Given the description of an element on the screen output the (x, y) to click on. 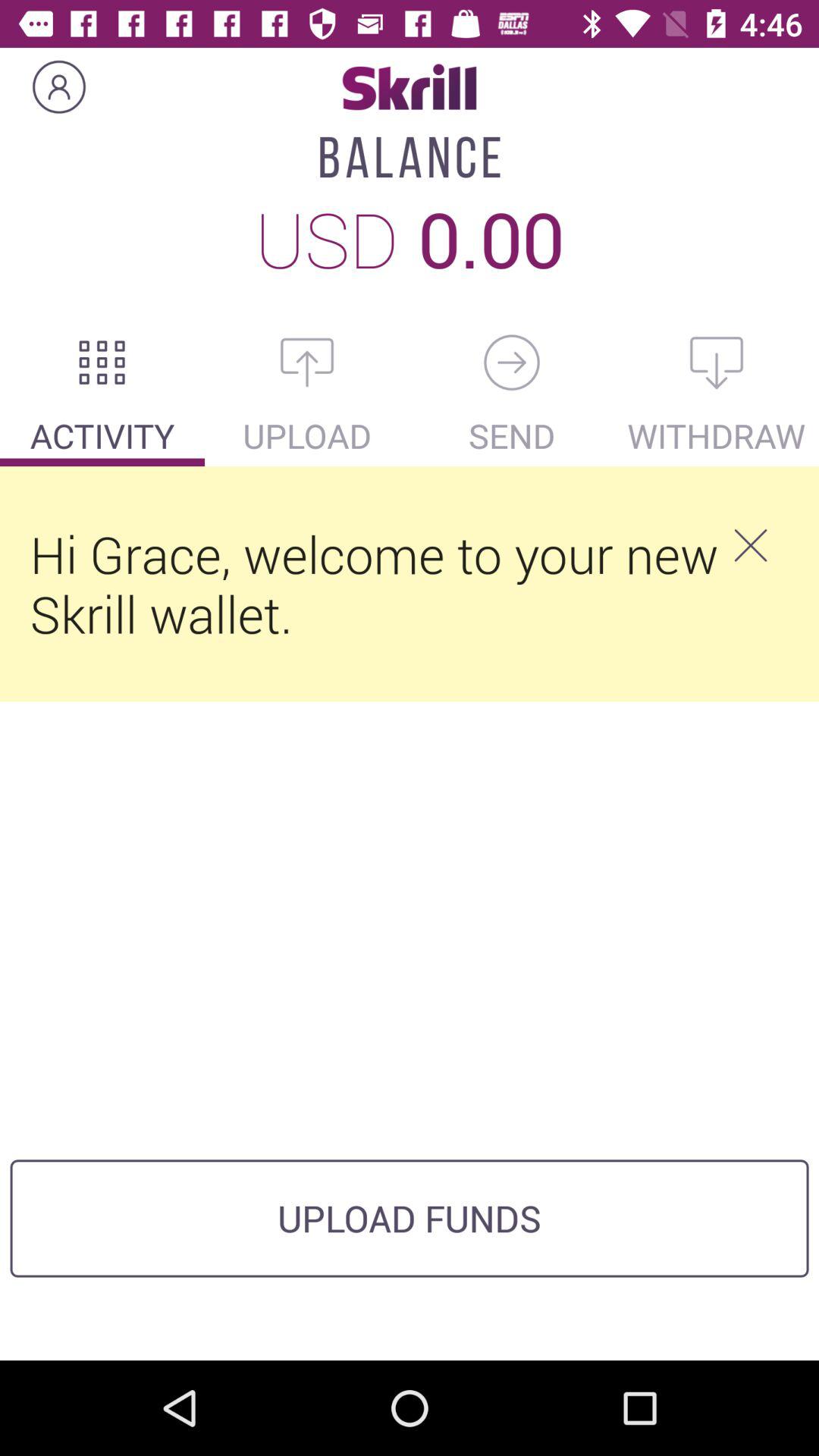
choose the upload funds (409, 1218)
